Given the description of an element on the screen output the (x, y) to click on. 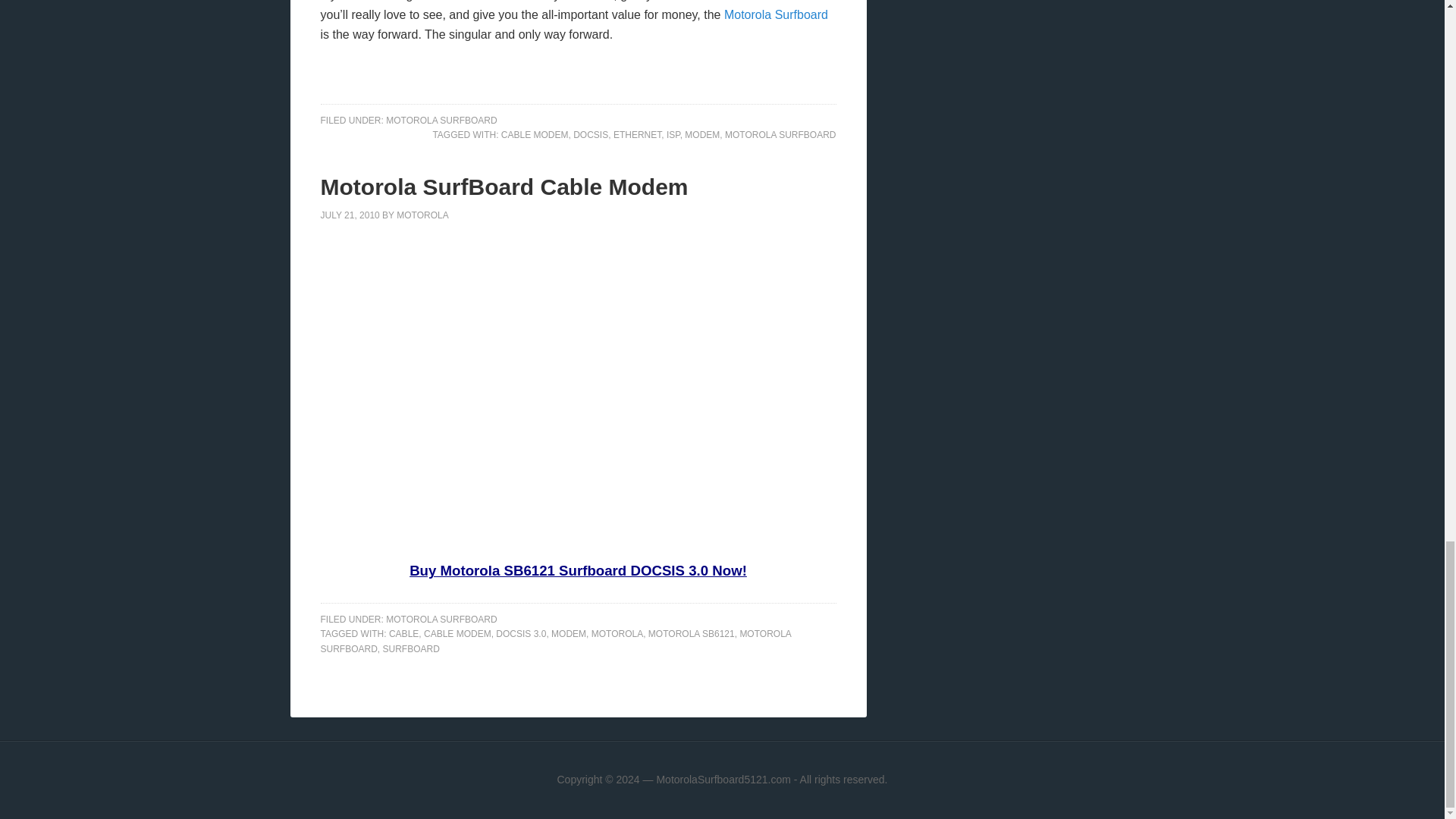
ISP (672, 134)
DOCSIS (590, 134)
MotorolaSurfboard5121.com (723, 779)
Motorola Surfboard (775, 14)
MOTOROLA SB6121 (691, 633)
CABLE MODEM (457, 633)
ETHERNET (636, 134)
SURFBOARD (410, 648)
CABLE MODEM (534, 134)
MOTOROLA (422, 214)
